Given the description of an element on the screen output the (x, y) to click on. 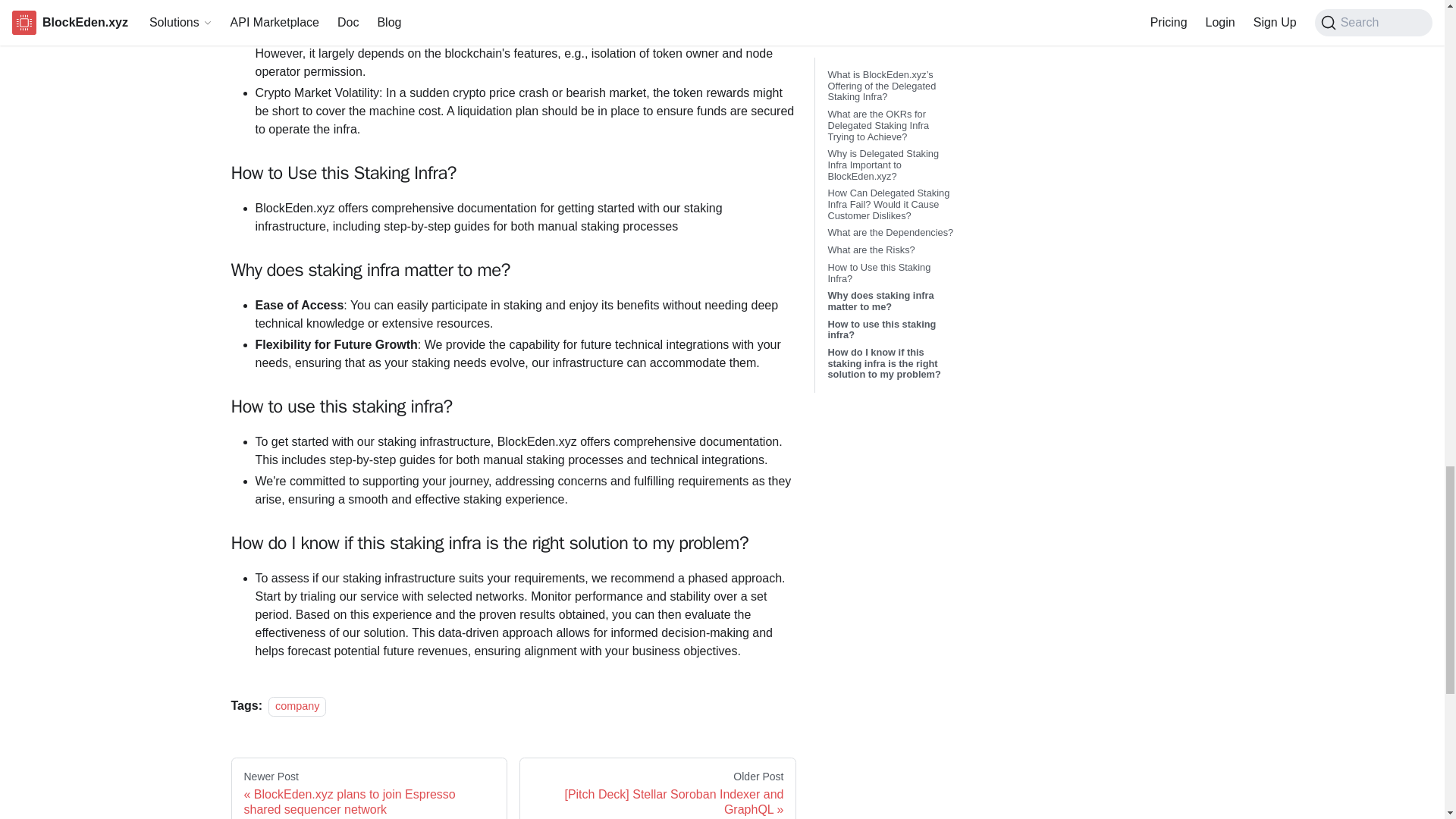
company (296, 706)
